Given the description of an element on the screen output the (x, y) to click on. 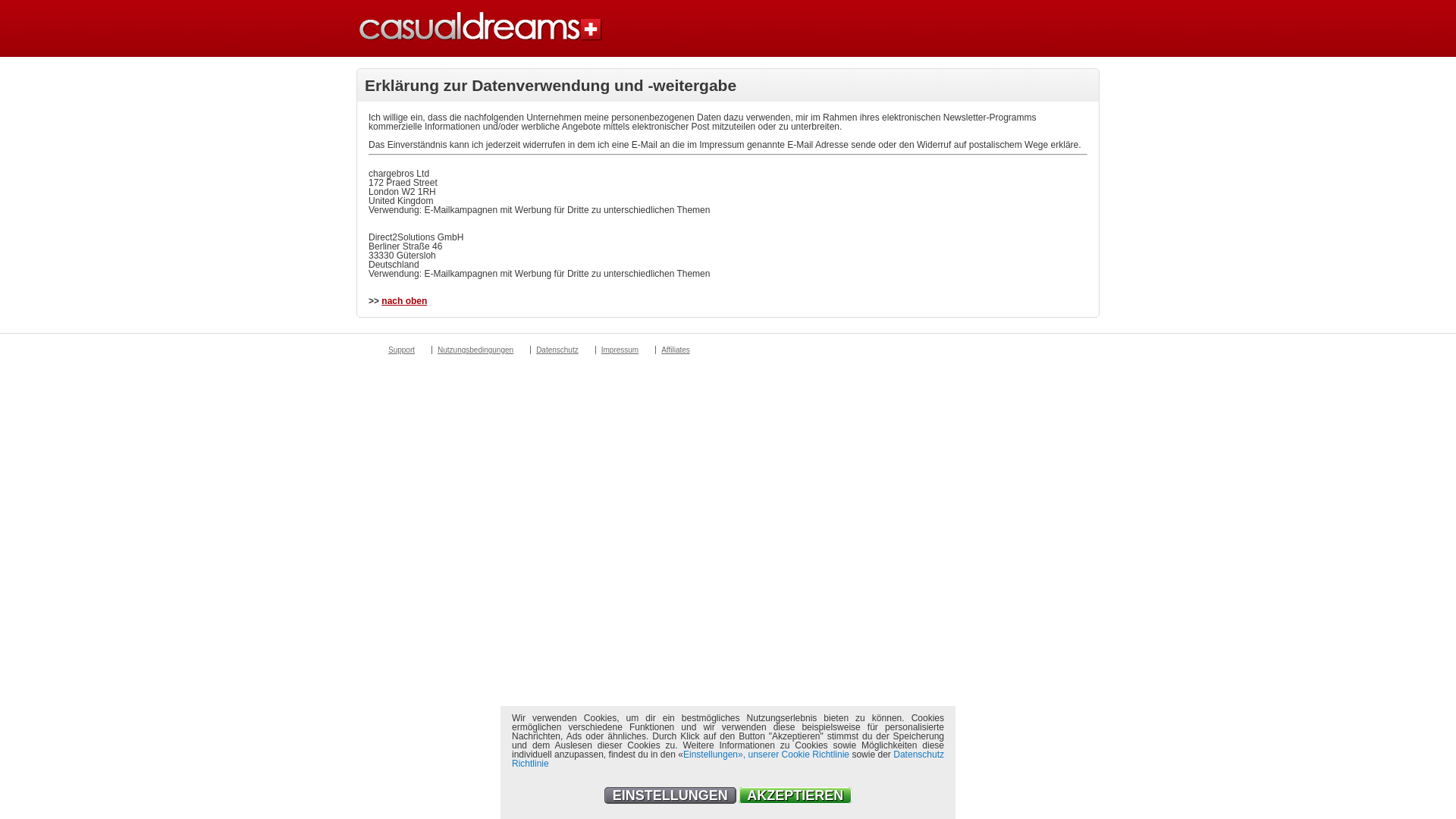
Einstellungen Element type: text (710, 754)
Impressum Element type: text (619, 349)
Datenschutz Richtlinie Element type: text (727, 758)
nach oben Element type: text (403, 300)
Affiliates Element type: text (675, 349)
EINSTELLUNGEN Element type: text (670, 795)
Cookie Richtlinie Element type: text (815, 754)
Support Element type: text (401, 349)
Nutzungsbedingungen Element type: text (474, 349)
AKZEPTIEREN Element type: text (794, 795)
Datenschutz Element type: text (556, 349)
